Given the description of an element on the screen output the (x, y) to click on. 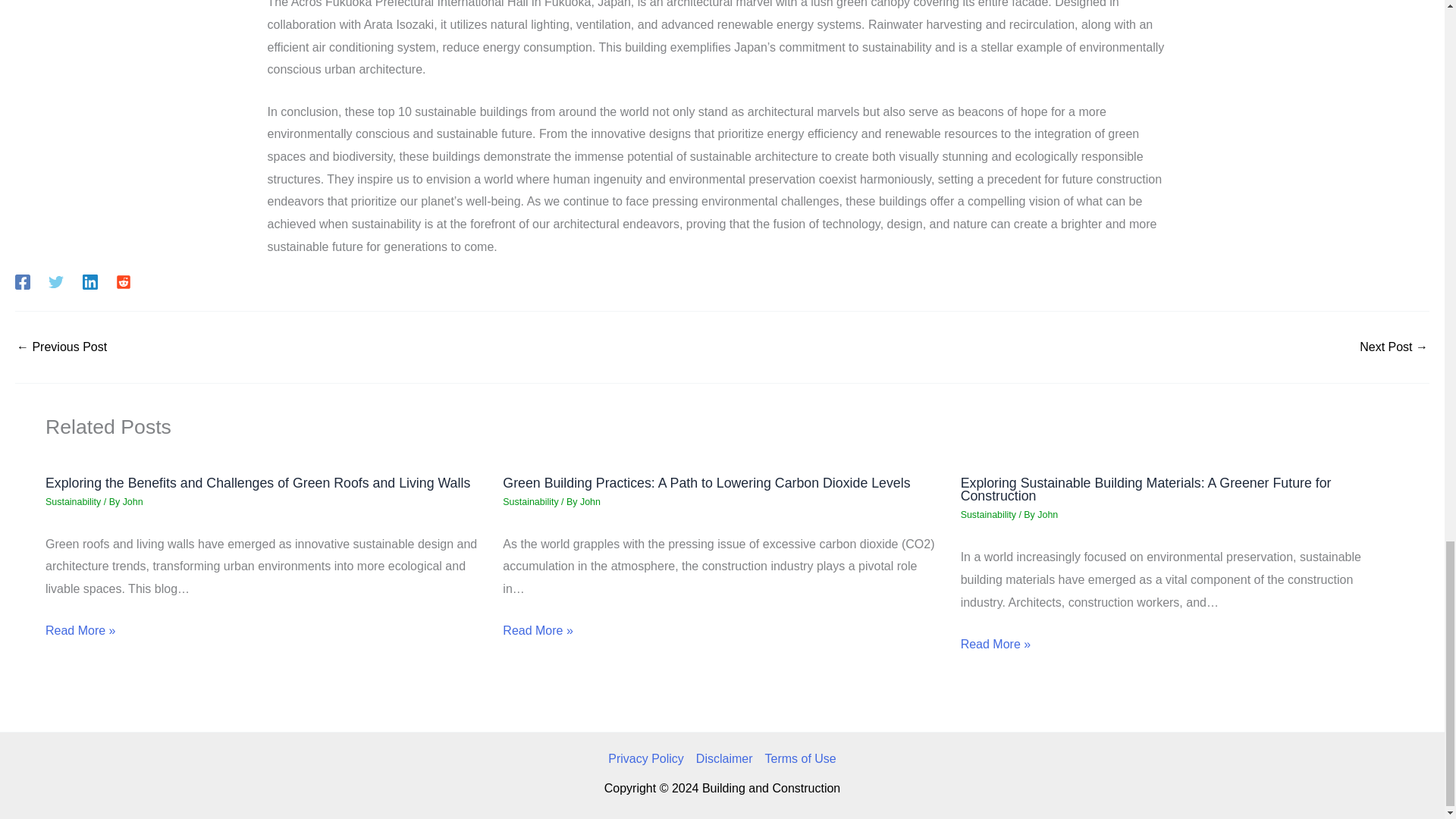
View all posts by John (1047, 514)
View all posts by John (132, 501)
View all posts by John (589, 501)
